Given the description of an element on the screen output the (x, y) to click on. 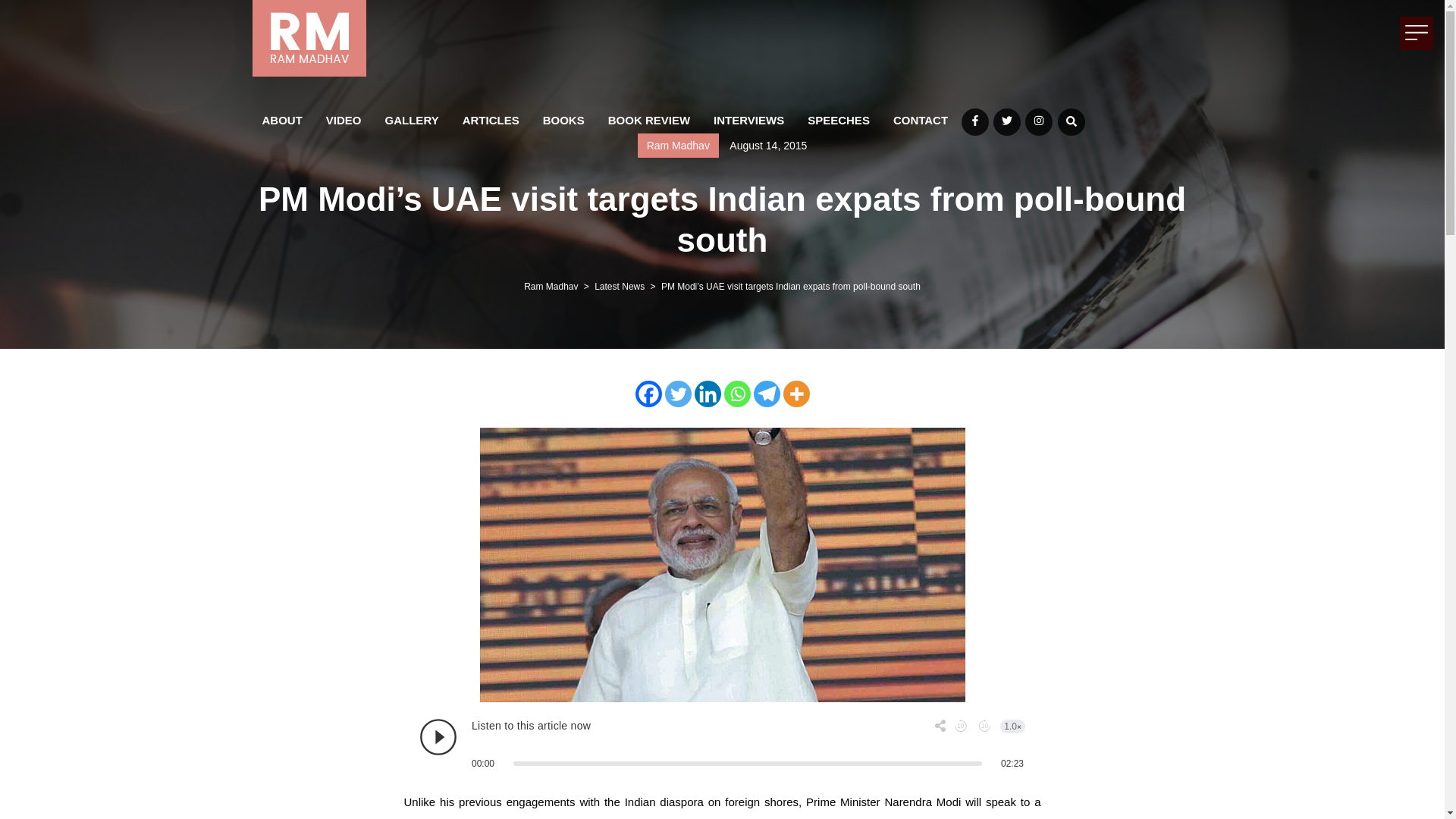
Trinity Audio Player (721, 743)
Twitter (1006, 121)
More (796, 393)
INTERVIEWS (748, 118)
Go to the Latest News Category archives. (619, 286)
BOOK REVIEW (649, 118)
Go to Ram Madhav. (550, 286)
Whatsapp (736, 393)
Facebook (974, 121)
Telegram (767, 393)
Facebook (648, 393)
Instagram (1038, 121)
Linkedin (707, 393)
Ram Madhav (550, 286)
Latest News (619, 286)
